Given the description of an element on the screen output the (x, y) to click on. 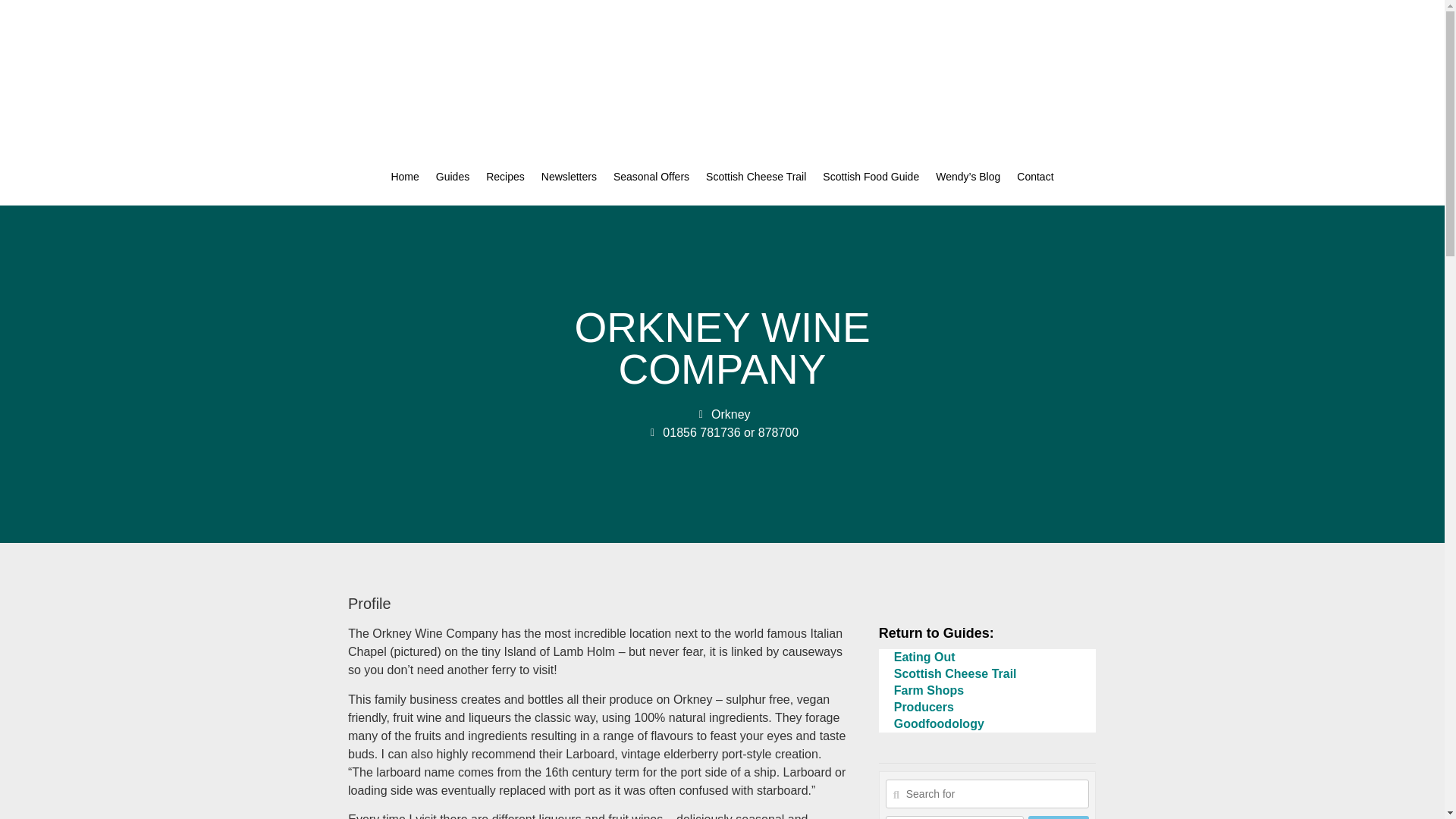
Contact (1035, 176)
Newsletters (568, 176)
Seasonal Offers (651, 176)
Scottish Food Guide (870, 176)
Home (403, 176)
Guides (452, 176)
Scottish Cheese Trail (755, 176)
Recipes (504, 176)
